Given the description of an element on the screen output the (x, y) to click on. 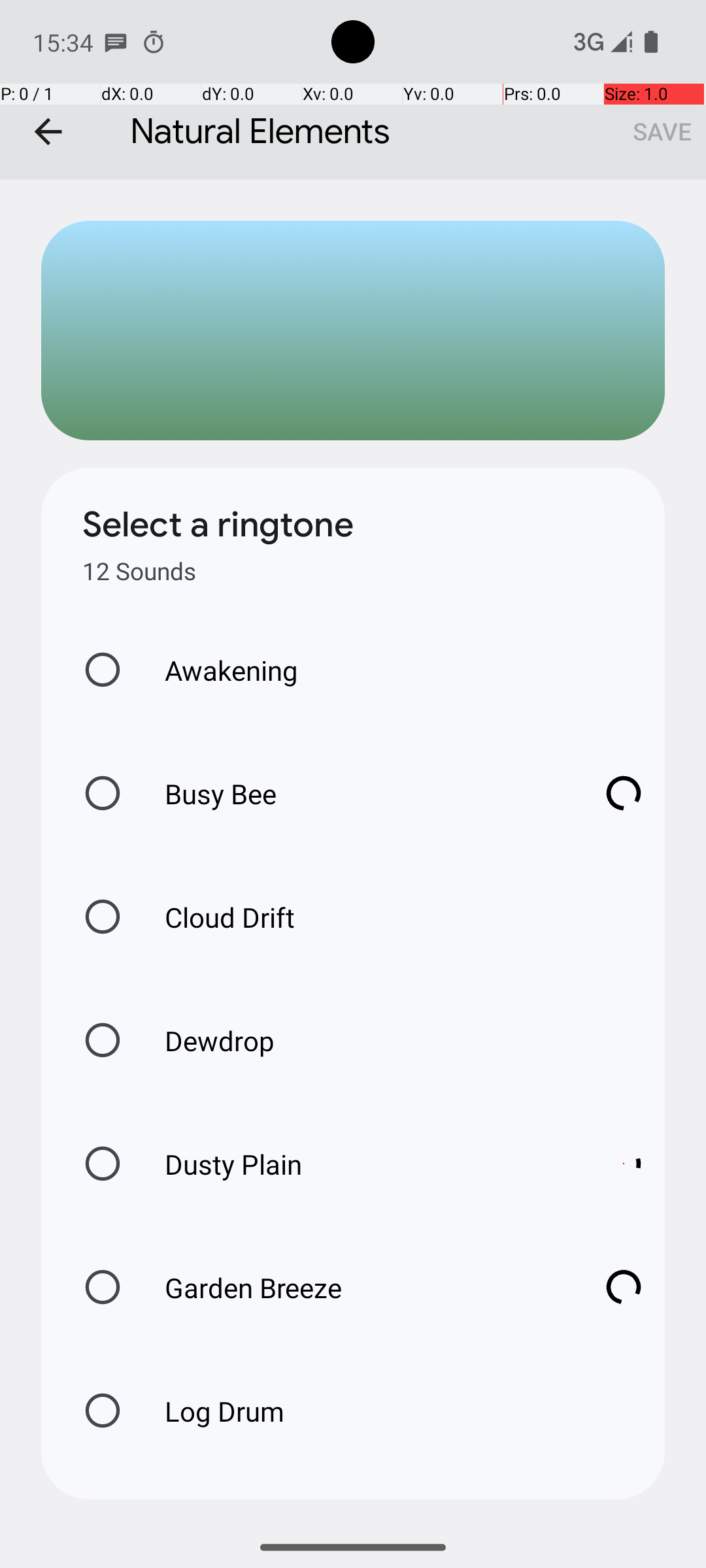
Awakening Element type: android.widget.TextView (217, 669)
Busy Bee Element type: android.widget.TextView (359, 793)
Download in progress Element type: android.widget.ImageView (623, 792)
Cloud Drift Element type: android.widget.TextView (215, 916)
Dewdrop Element type: android.widget.TextView (205, 1040)
Dusty Plain Element type: android.widget.TextView (359, 1163)
Garden Breeze Element type: android.widget.TextView (359, 1287)
Log Drum Element type: android.widget.TextView (210, 1410)
